Given the description of an element on the screen output the (x, y) to click on. 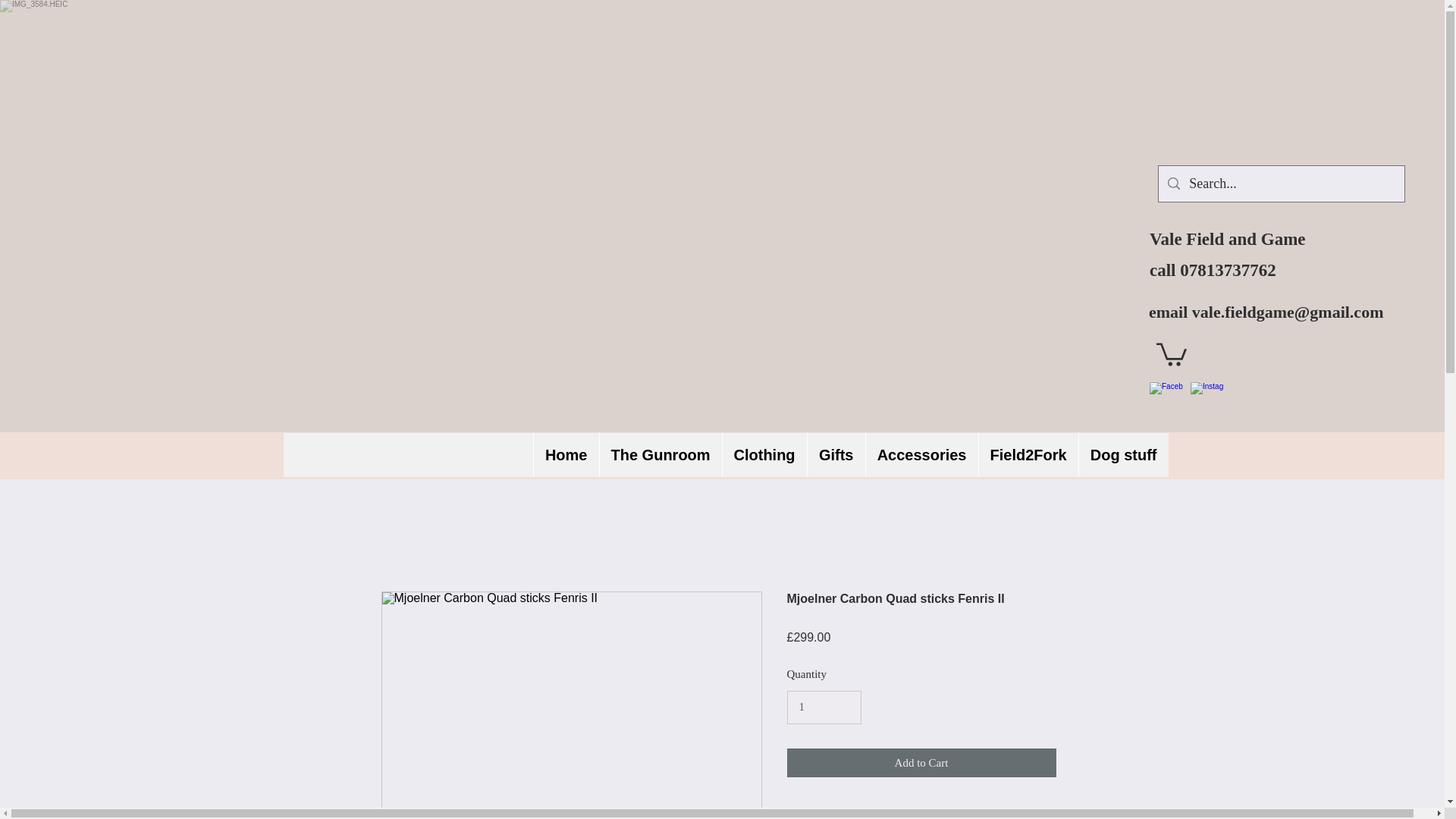
Dog stuff (1123, 454)
Clothing (764, 454)
Add to Cart (922, 763)
The Gunroom (660, 454)
Home (565, 454)
Accessories (920, 454)
1 (824, 707)
Gifts (835, 454)
Field2Fork (1028, 454)
